Given the description of an element on the screen output the (x, y) to click on. 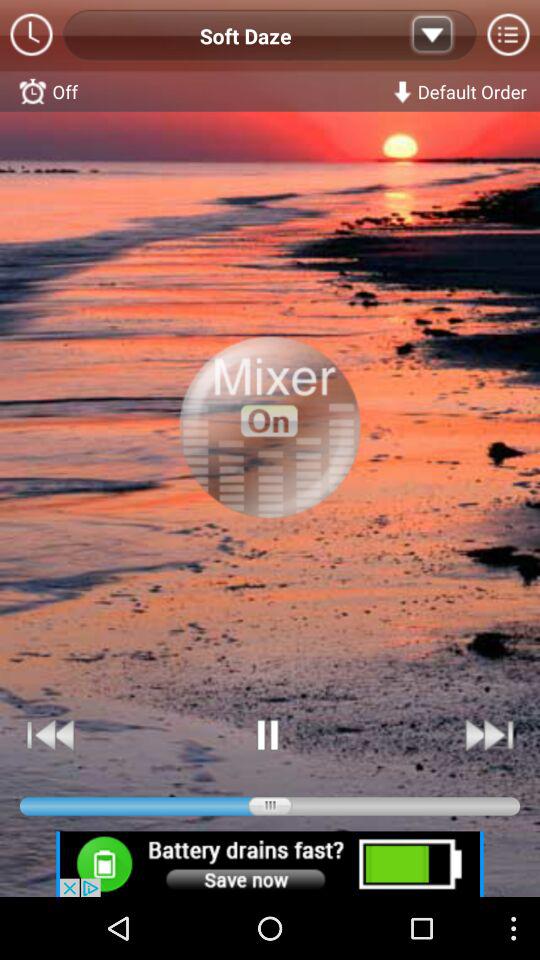
choose the selection (269, 448)
